Given the description of an element on the screen output the (x, y) to click on. 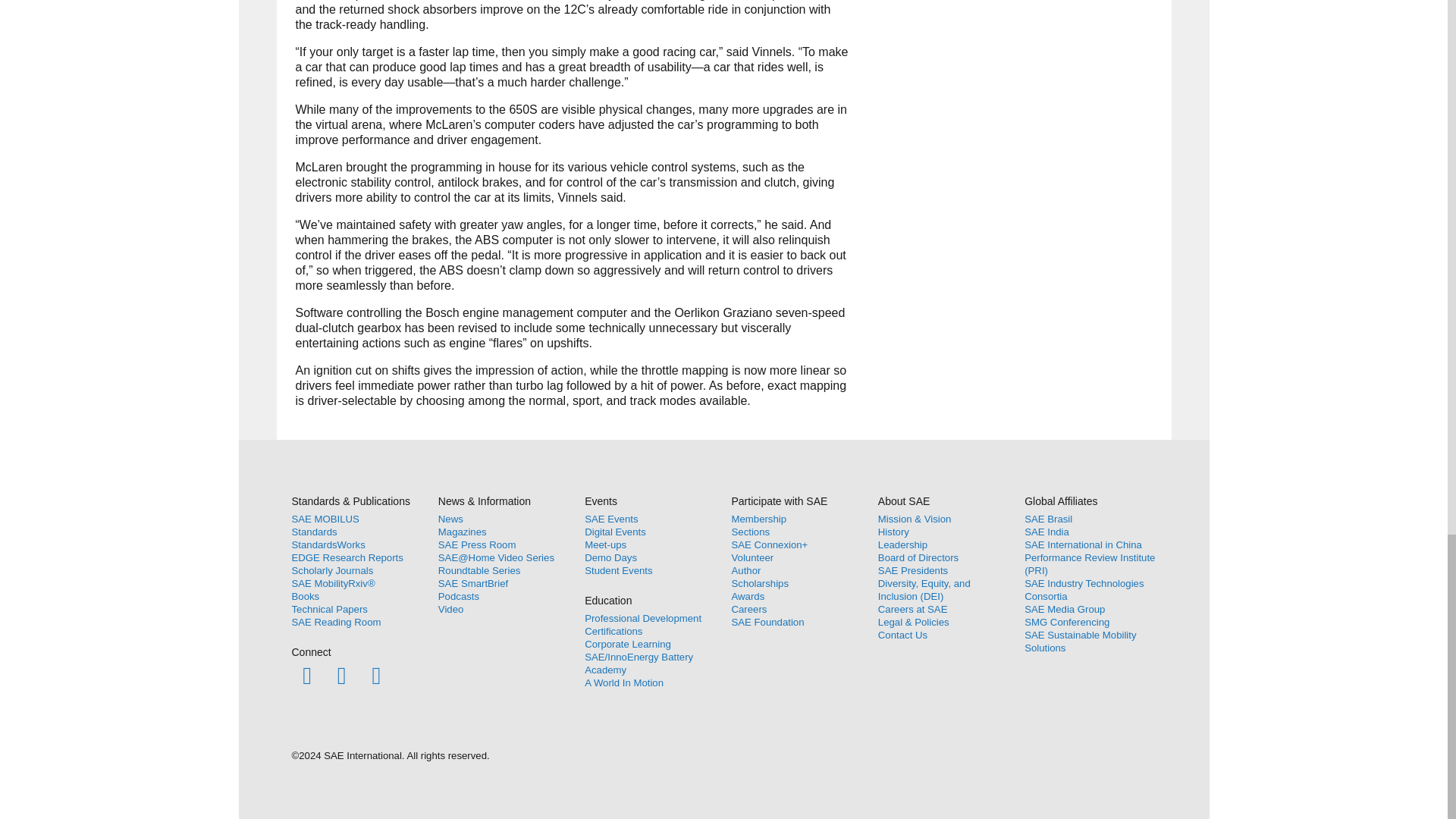
Twitter (341, 675)
Facebook (306, 675)
LinkedIn (376, 675)
